Given the description of an element on the screen output the (x, y) to click on. 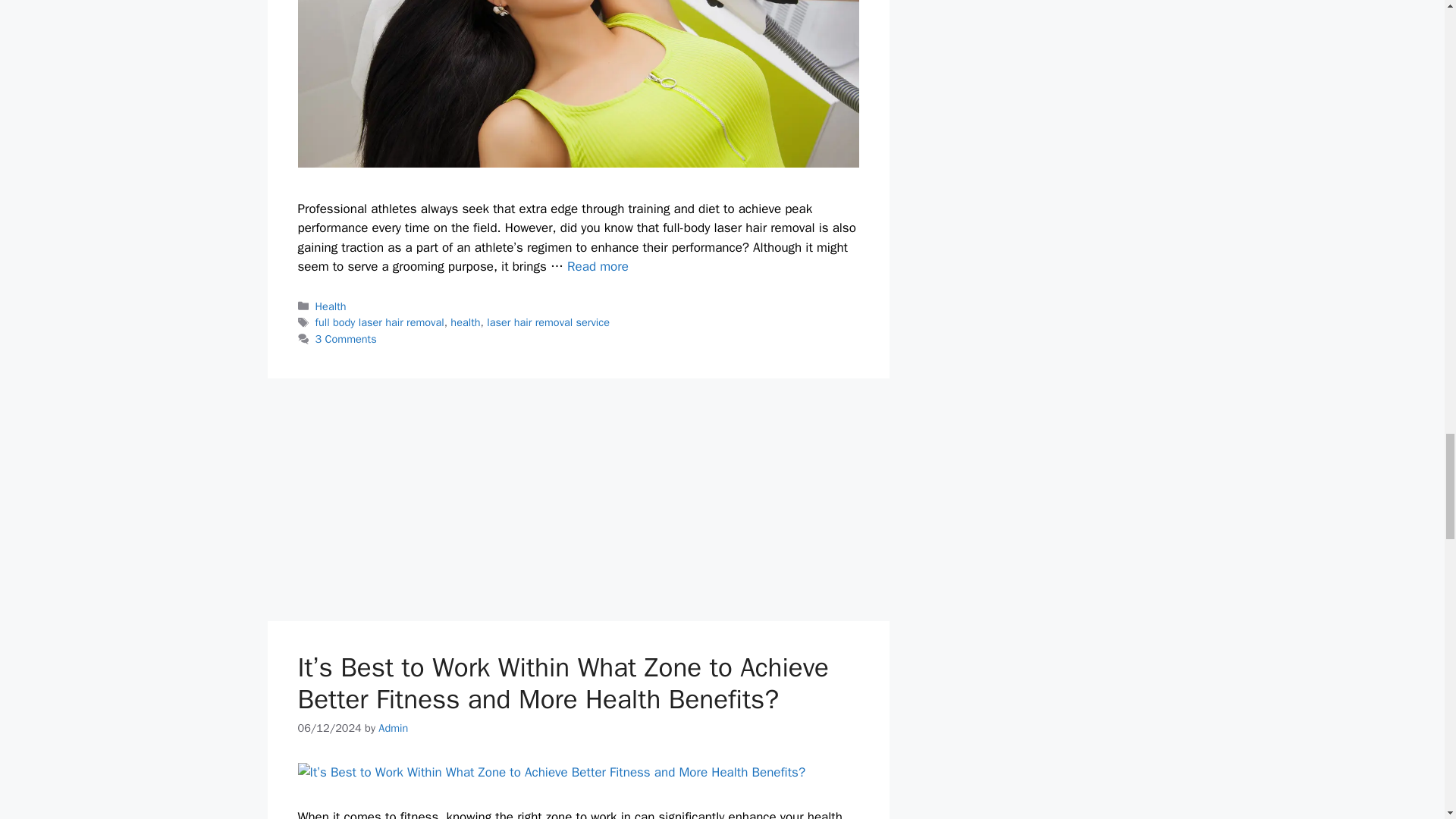
View all posts by Admin (392, 727)
